Given the description of an element on the screen output the (x, y) to click on. 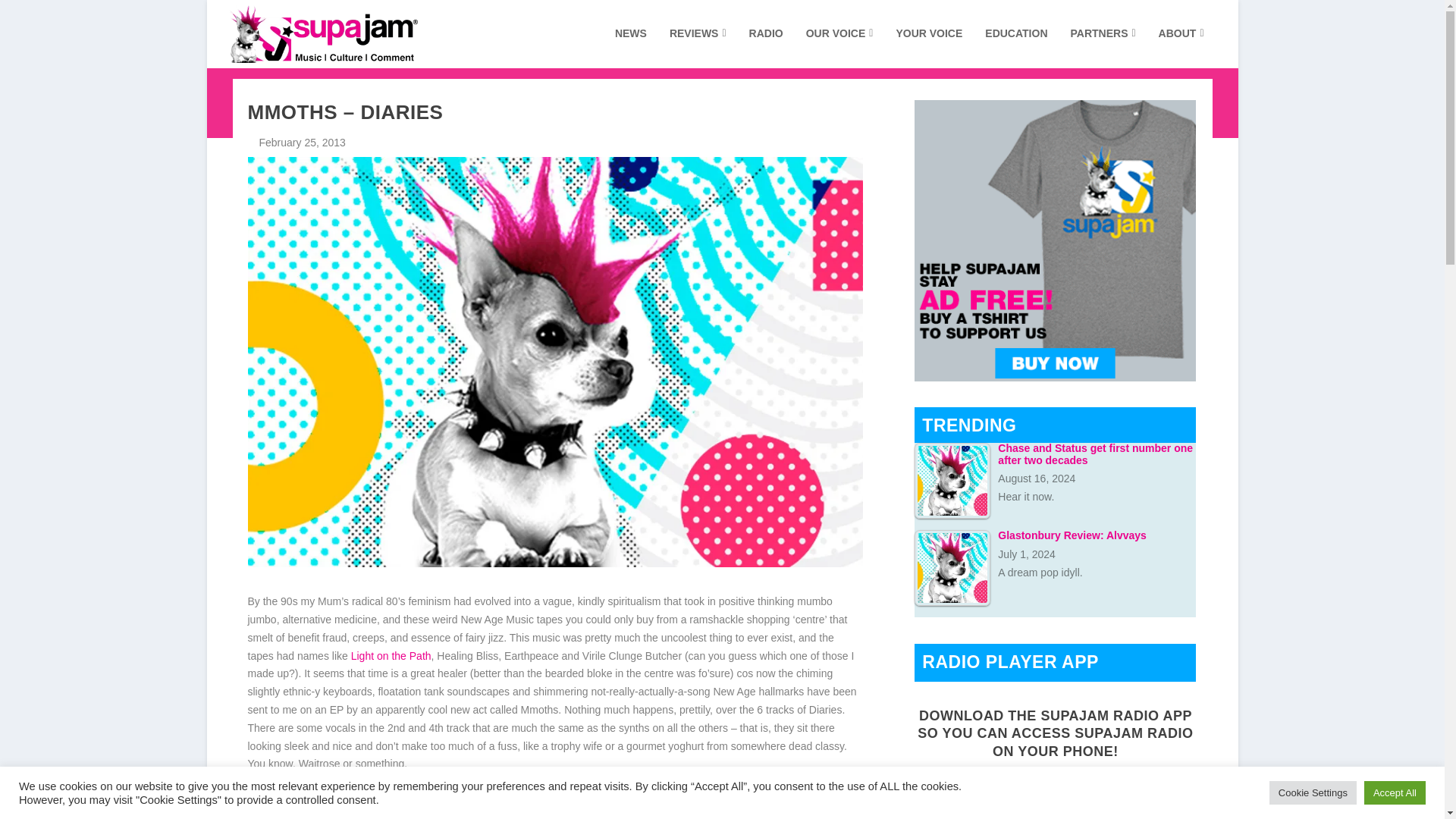
Light on the Path (390, 655)
Chase and Status get first number one after two decades (952, 480)
EDUCATION (1015, 47)
OUR VOICE (839, 47)
Glastonbury Review: Alvvays (952, 567)
YOUR VOICE (928, 47)
REVIEWS (697, 47)
